Given the description of an element on the screen output the (x, y) to click on. 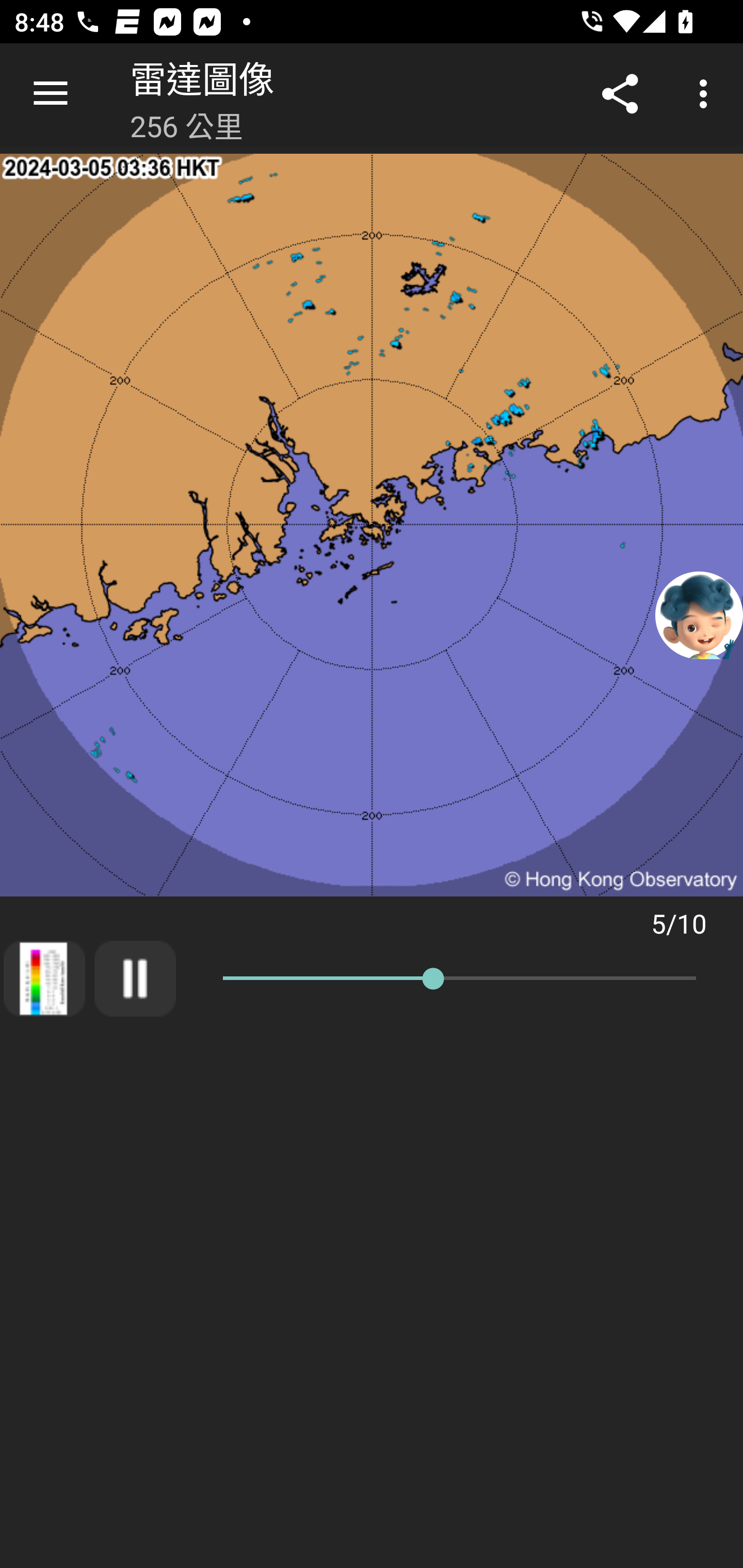
向上瀏覽 (50, 93)
分享 (619, 93)
更多選項 (706, 93)
聊天機械人 (699, 614)
圖解 (44, 978)
暫停 (135, 978)
